Given the description of an element on the screen output the (x, y) to click on. 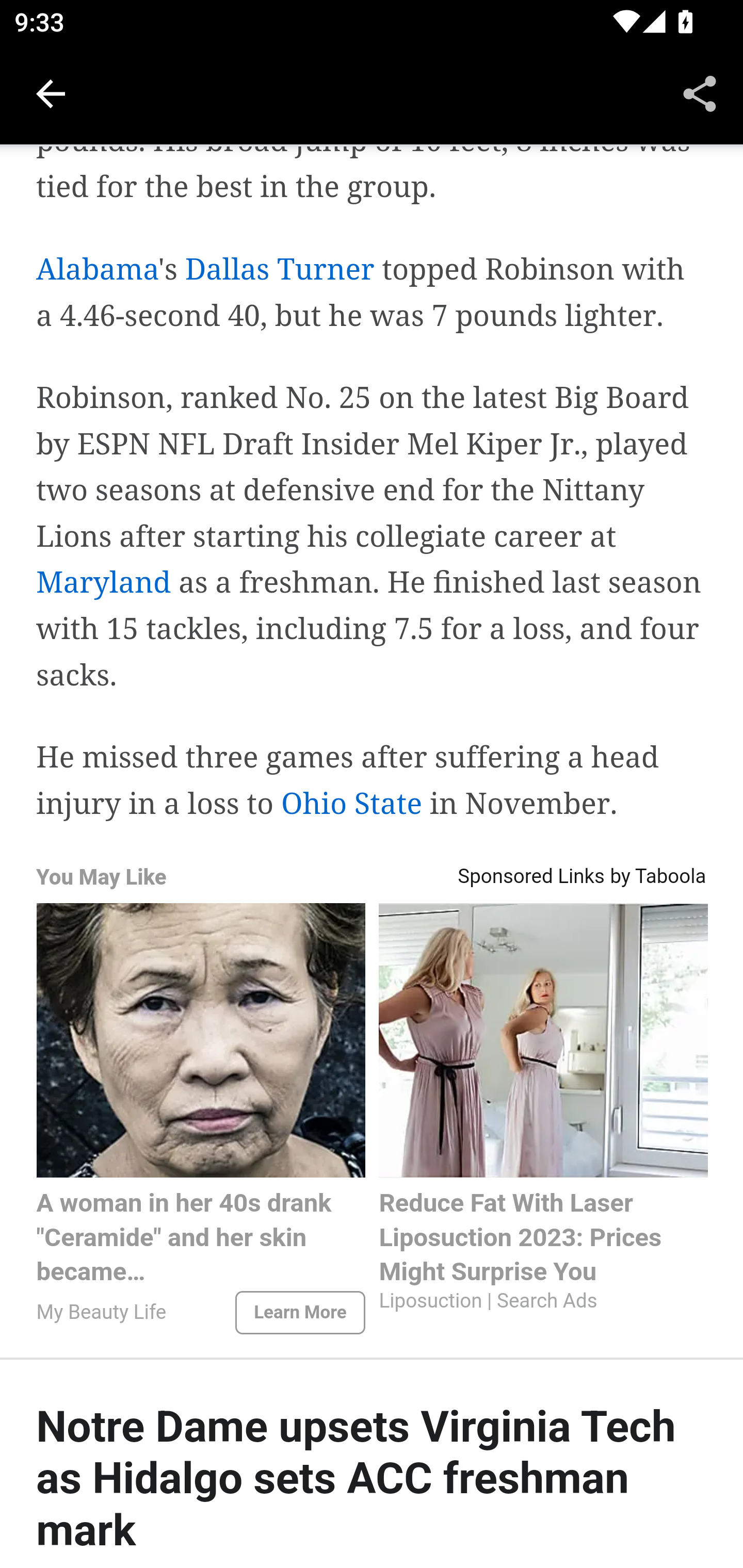
Navigate up (50, 93)
Share (699, 93)
